Given the description of an element on the screen output the (x, y) to click on. 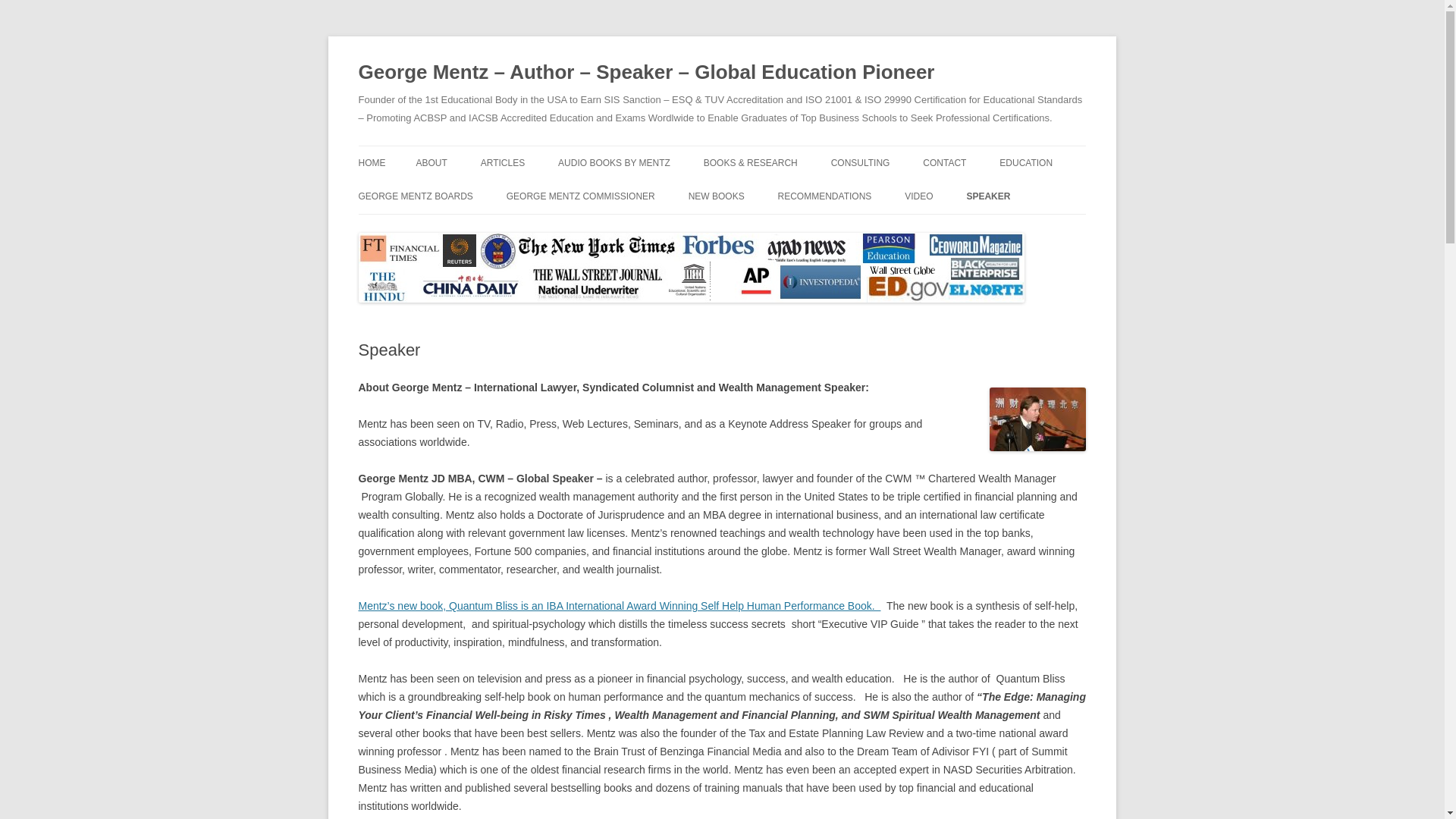
DISCLAIMER (998, 194)
VIDEO (918, 195)
ABOUT (430, 162)
GEORGE MENTZ INFLUENCER PROFILE (490, 204)
EDUCATION (1025, 162)
RECOMMENDATIONS (824, 195)
GEORGE MENTZ COMMISSIONER (580, 195)
SPEAKER (988, 195)
ARTICLES (502, 162)
George Mentz Colorado (619, 605)
HOME (371, 162)
GEORGE MENTZ BOARDS (414, 195)
JOBS (1074, 194)
CONSULTING (860, 162)
